Given the description of an element on the screen output the (x, y) to click on. 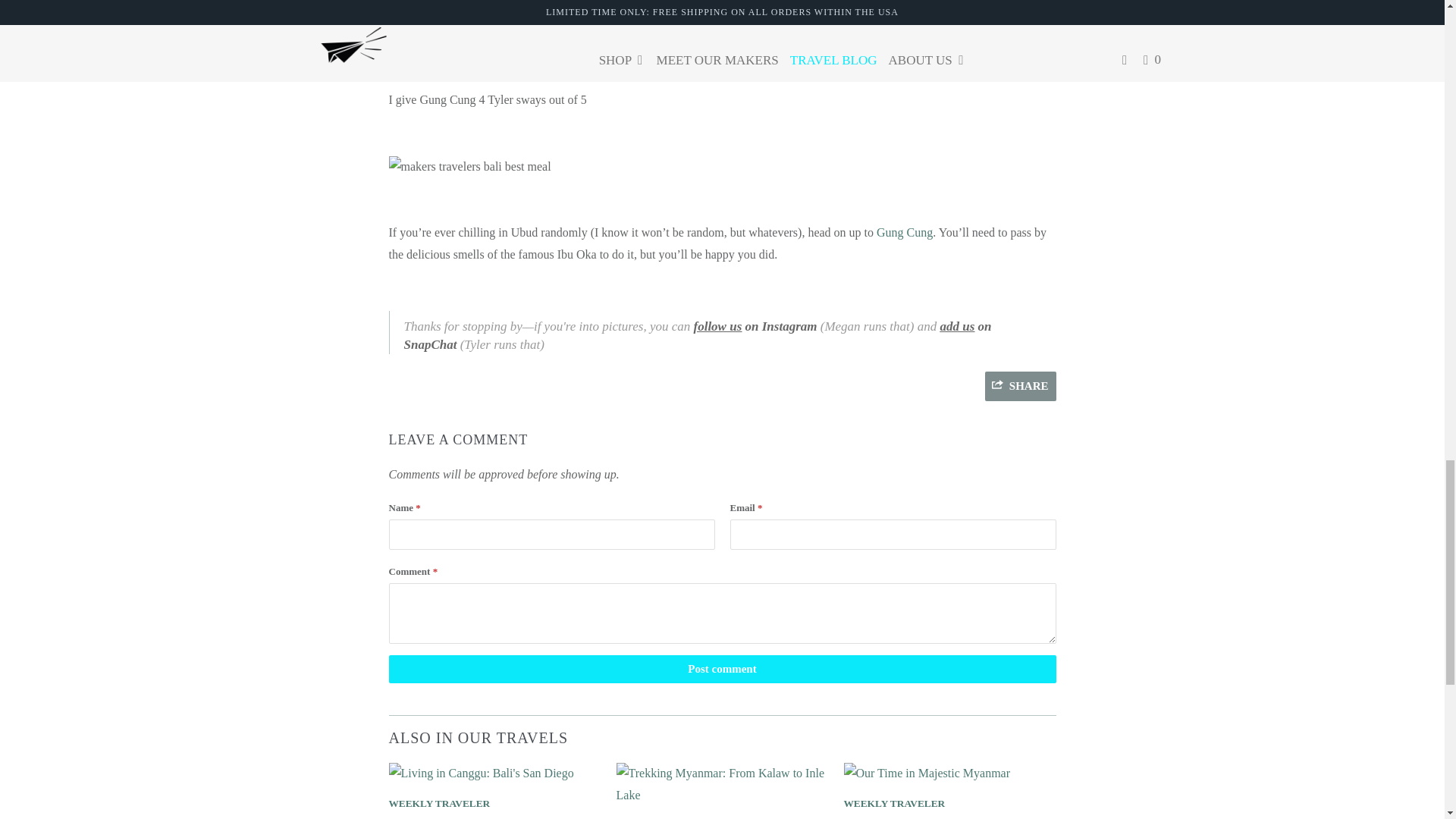
add us (956, 326)
Post comment (721, 669)
Our Travels tagged WEEKLY TRAVELER (438, 803)
Trekking Myanmar: From Kalaw to Inle Lake (721, 794)
Living in Canggu: Bali's San Diego (480, 772)
Our Time in Majestic Myanmar (926, 772)
Our Travels tagged WEEKLY TRAVELER (893, 803)
Gung Cung (904, 232)
